Given the description of an element on the screen output the (x, y) to click on. 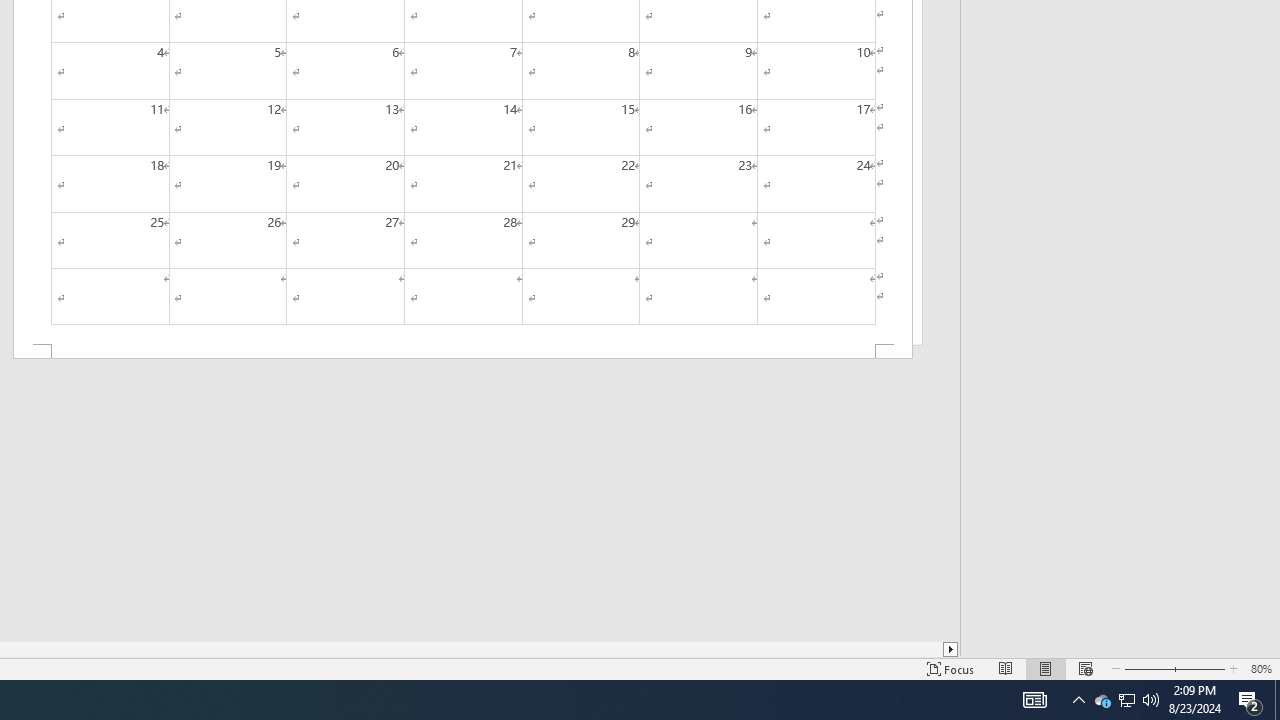
Column right (951, 649)
Footer -Section 2- (462, 351)
